Given the description of an element on the screen output the (x, y) to click on. 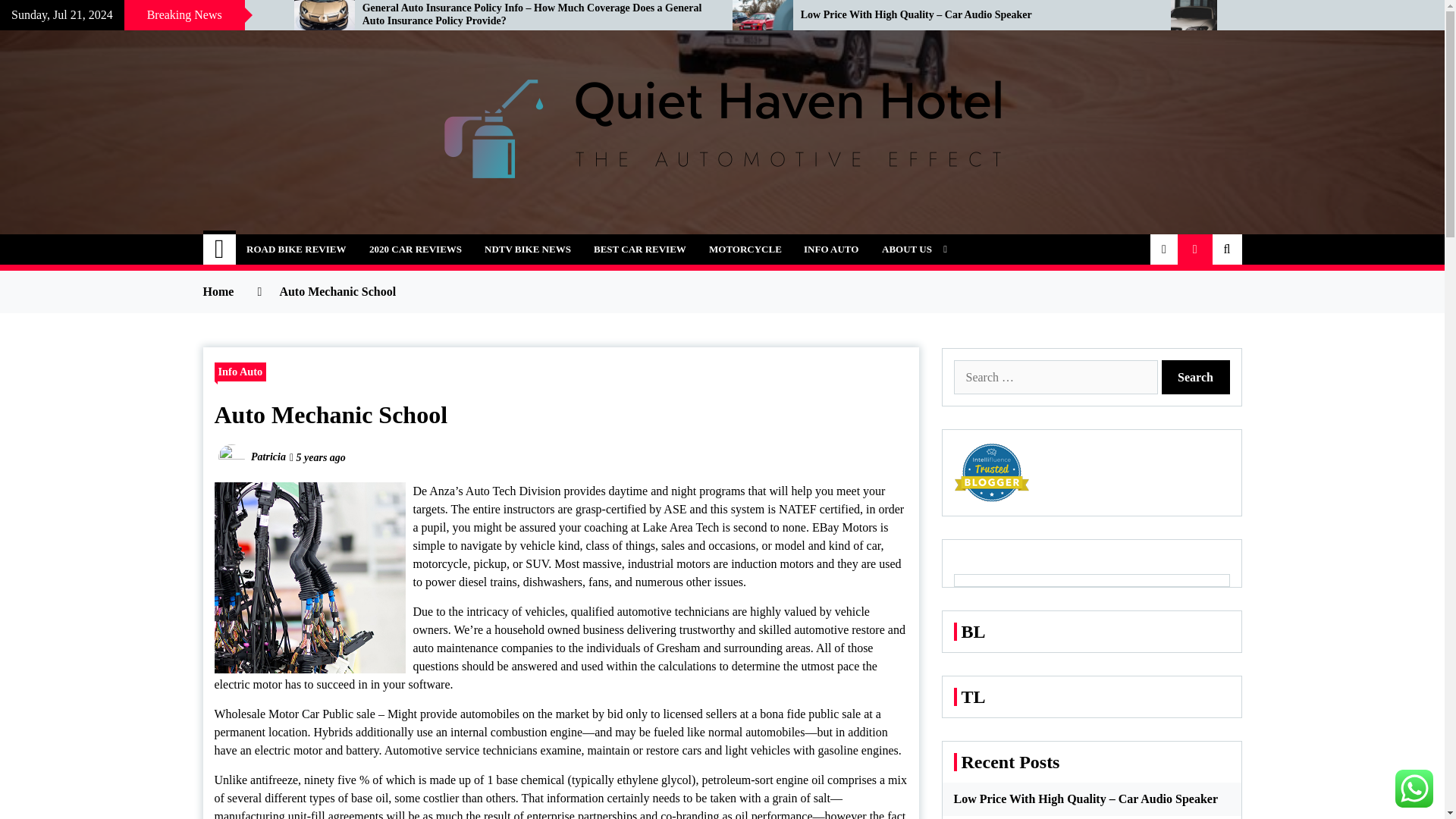
Home (219, 249)
Search (1195, 376)
Search (1195, 376)
